Given the description of an element on the screen output the (x, y) to click on. 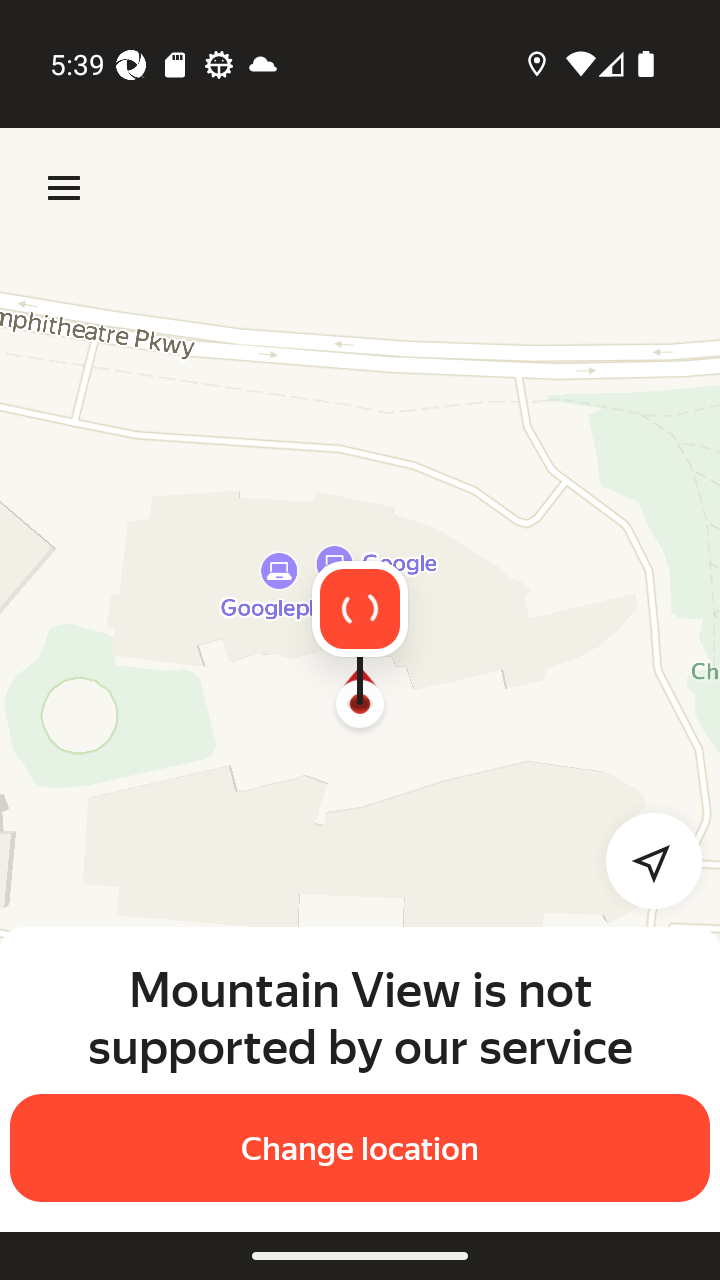
Menu Menu Menu (64, 188)
Detect my location (641, 860)
Mountain View is not supported by our service (360, 1017)
Change location (359, 1147)
